Given the description of an element on the screen output the (x, y) to click on. 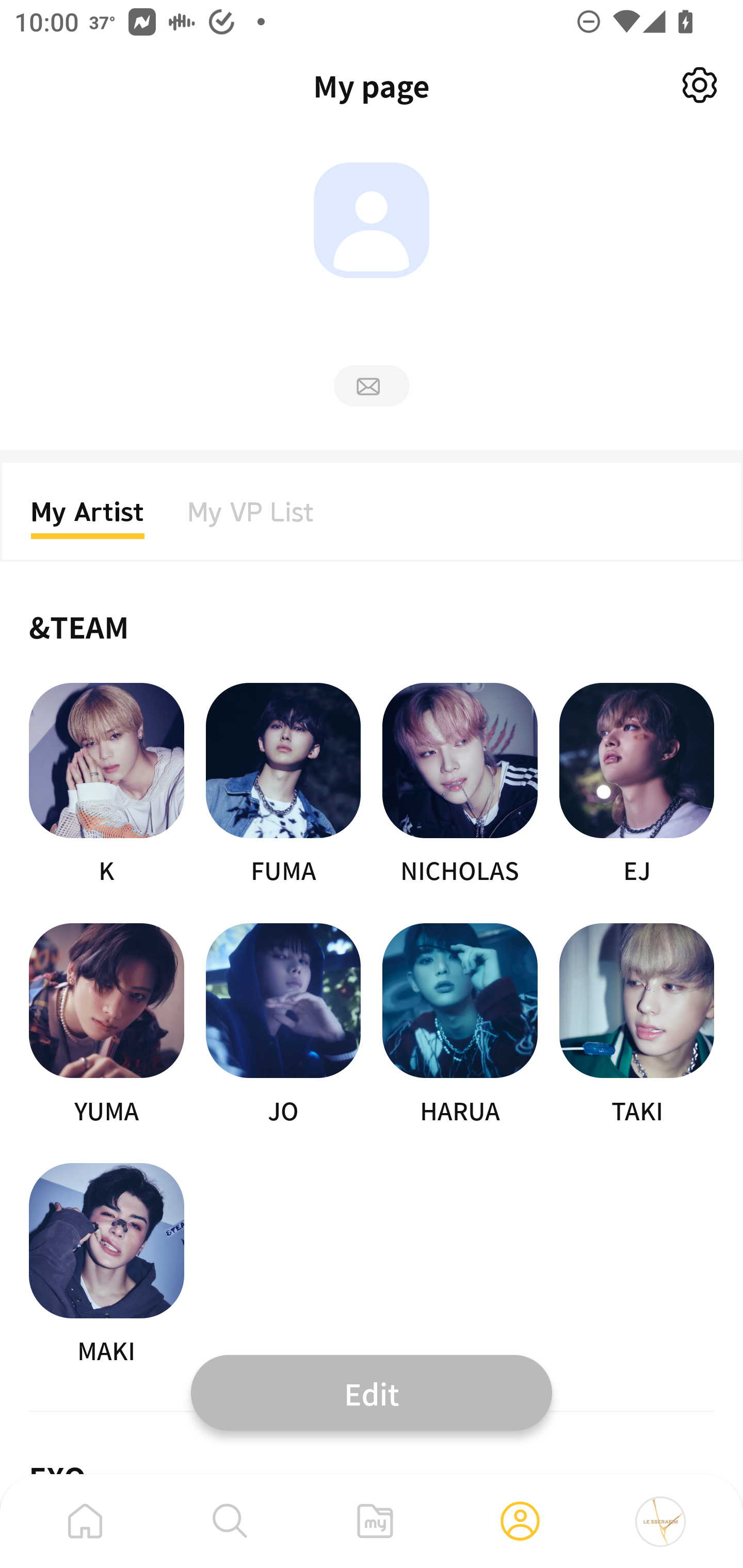
My Artist (87, 517)
My VP List (250, 517)
K (106, 785)
FUMA (282, 785)
NICHOLAS (459, 785)
EJ (636, 785)
YUMA (106, 1025)
JO (282, 1025)
HARUA (459, 1025)
TAKI (636, 1025)
MAKI (106, 1265)
Edit (371, 1392)
